Given the description of an element on the screen output the (x, y) to click on. 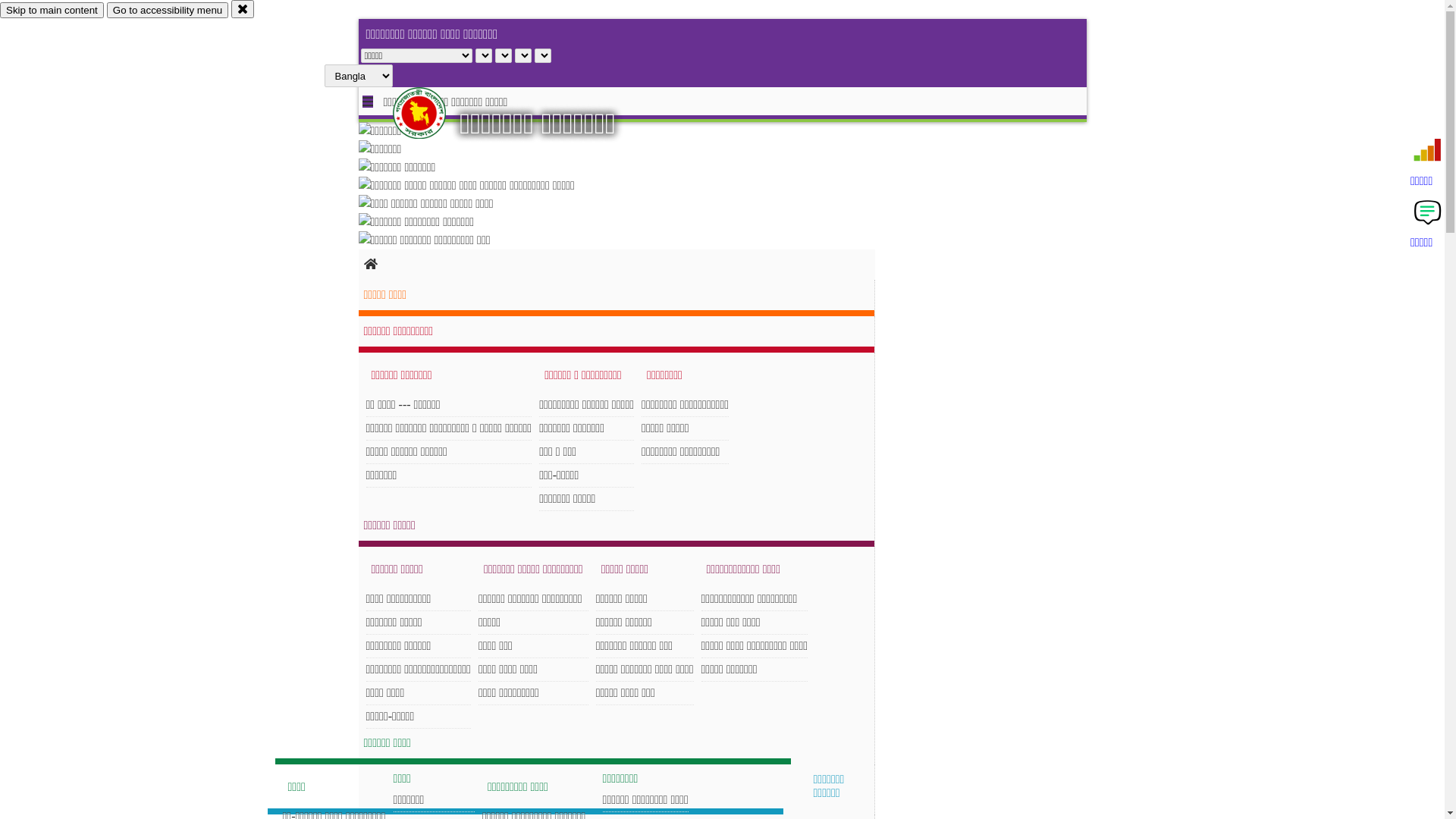
close Element type: hover (242, 9)

                
             Element type: hover (431, 112)
Skip to main content Element type: text (51, 10)
Go to accessibility menu Element type: text (167, 10)
